Given the description of an element on the screen output the (x, y) to click on. 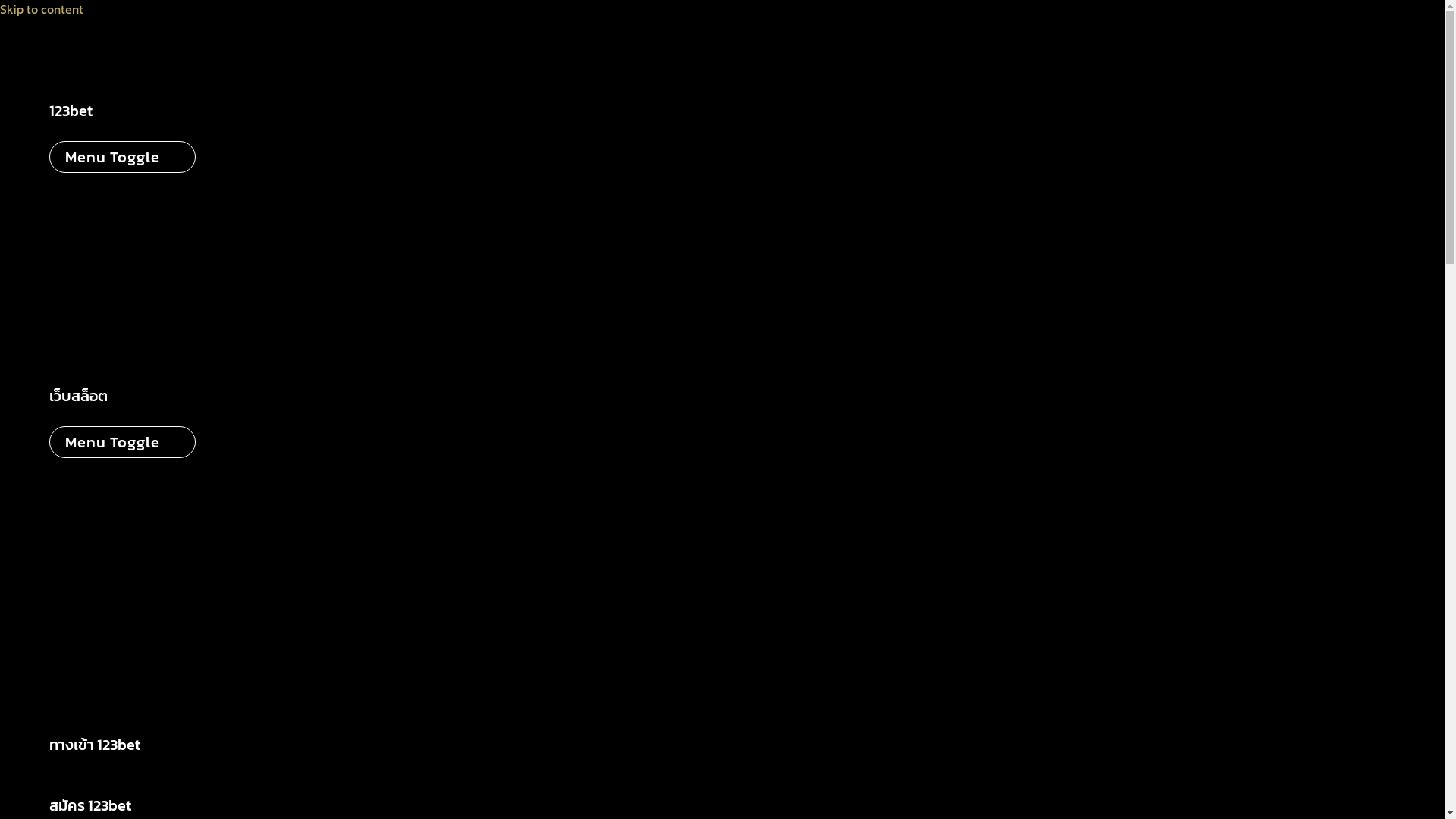
123bet Element type: text (122, 110)
Skip to content Element type: text (41, 9)
Menu Toggle Element type: text (122, 156)
Menu Toggle Element type: text (122, 442)
